Given the description of an element on the screen output the (x, y) to click on. 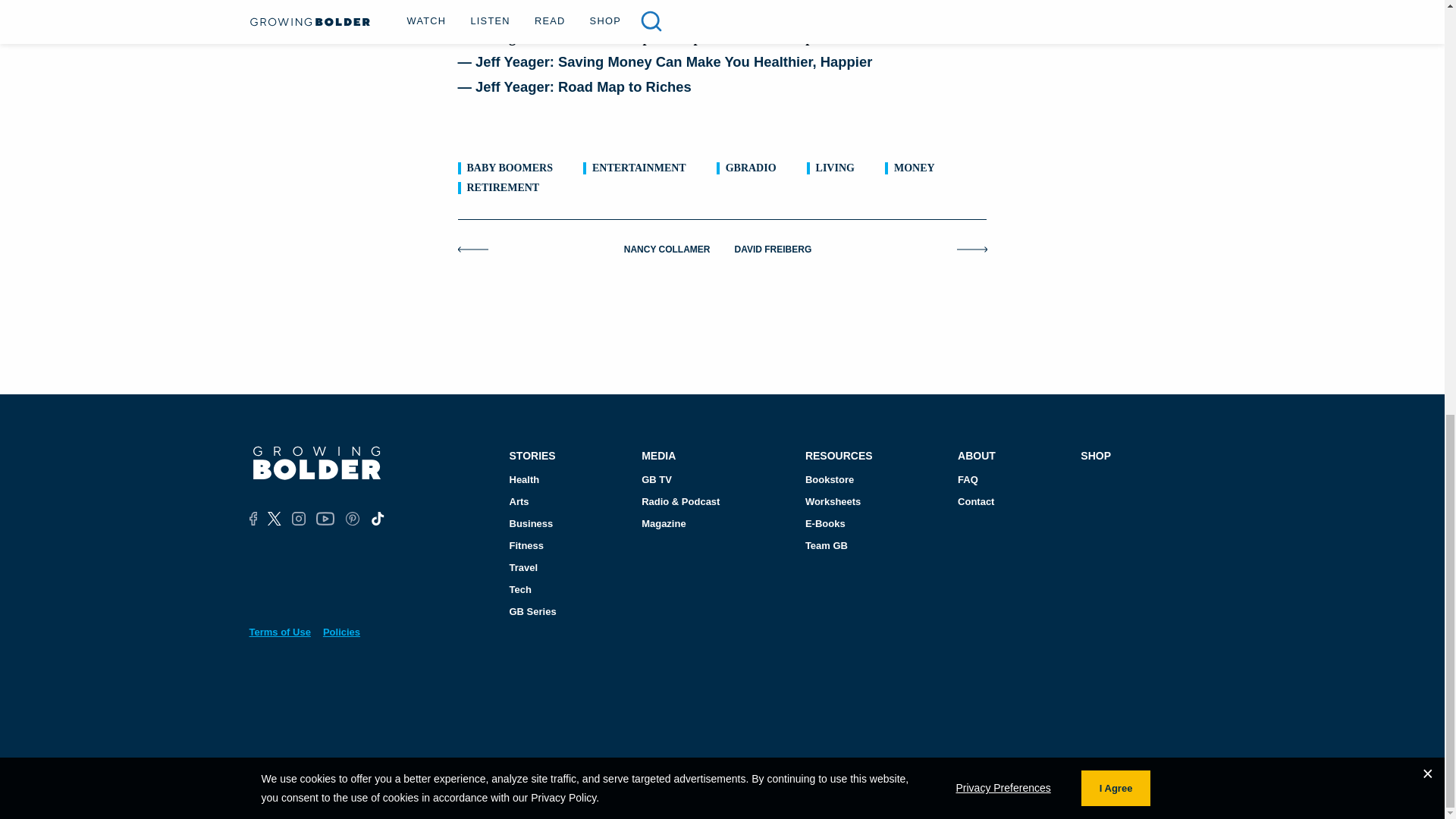
Link to: money (913, 168)
x (274, 518)
ENTERTAINMENT (638, 168)
Link to: living (834, 168)
BABY BOOMERS (510, 168)
Link to: baby boomers (510, 168)
Link to: retirement (503, 187)
tiktok (376, 518)
Link to: entertainment (638, 168)
Link to: gbradio (750, 168)
